Given the description of an element on the screen output the (x, y) to click on. 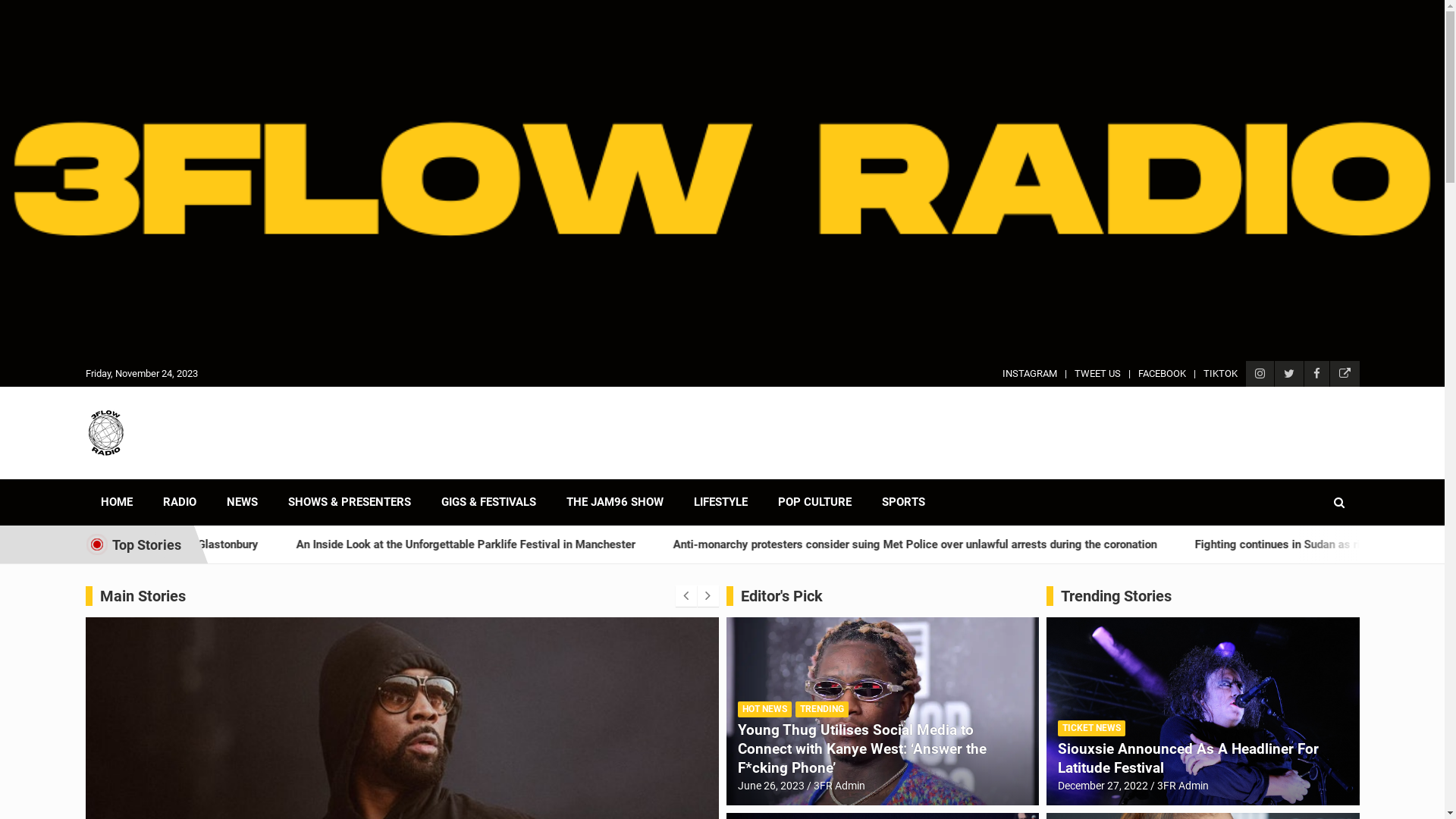
December 27, 2022 Element type: text (1102, 785)
INSTAGRAM Element type: text (1029, 373)
GIGS & FESTIVALS Element type: text (488, 502)
RADIO Element type: text (178, 502)
3Flow Radio Element type: text (168, 475)
HOT NEWS Element type: text (763, 709)
Main Stories Element type: text (142, 595)
POP CULTURE Element type: text (814, 502)
SPORTS Element type: text (902, 502)
SHOWS & PRESENTERS Element type: text (349, 502)
TWEET US Element type: text (1096, 373)
Siouxsie Announced As A Headliner For Latitude Festival Element type: text (1187, 758)
FACEBOOK Element type: text (1161, 373)
3FR Admin Element type: text (1182, 785)
TICKET NEWS Element type: text (1091, 728)
Editor's Pick Element type: text (781, 595)
TIKTOK Element type: text (1219, 373)
Trending Stories Element type: text (1115, 595)
THE JAM96 SHOW Element type: text (613, 502)
HOME Element type: text (115, 502)
June 26, 2023 Element type: text (770, 785)
TRENDING Element type: text (820, 709)
3FR Admin Element type: text (838, 785)
LIFESTYLE Element type: text (719, 502)
NEWS Element type: text (241, 502)
